Given the description of an element on the screen output the (x, y) to click on. 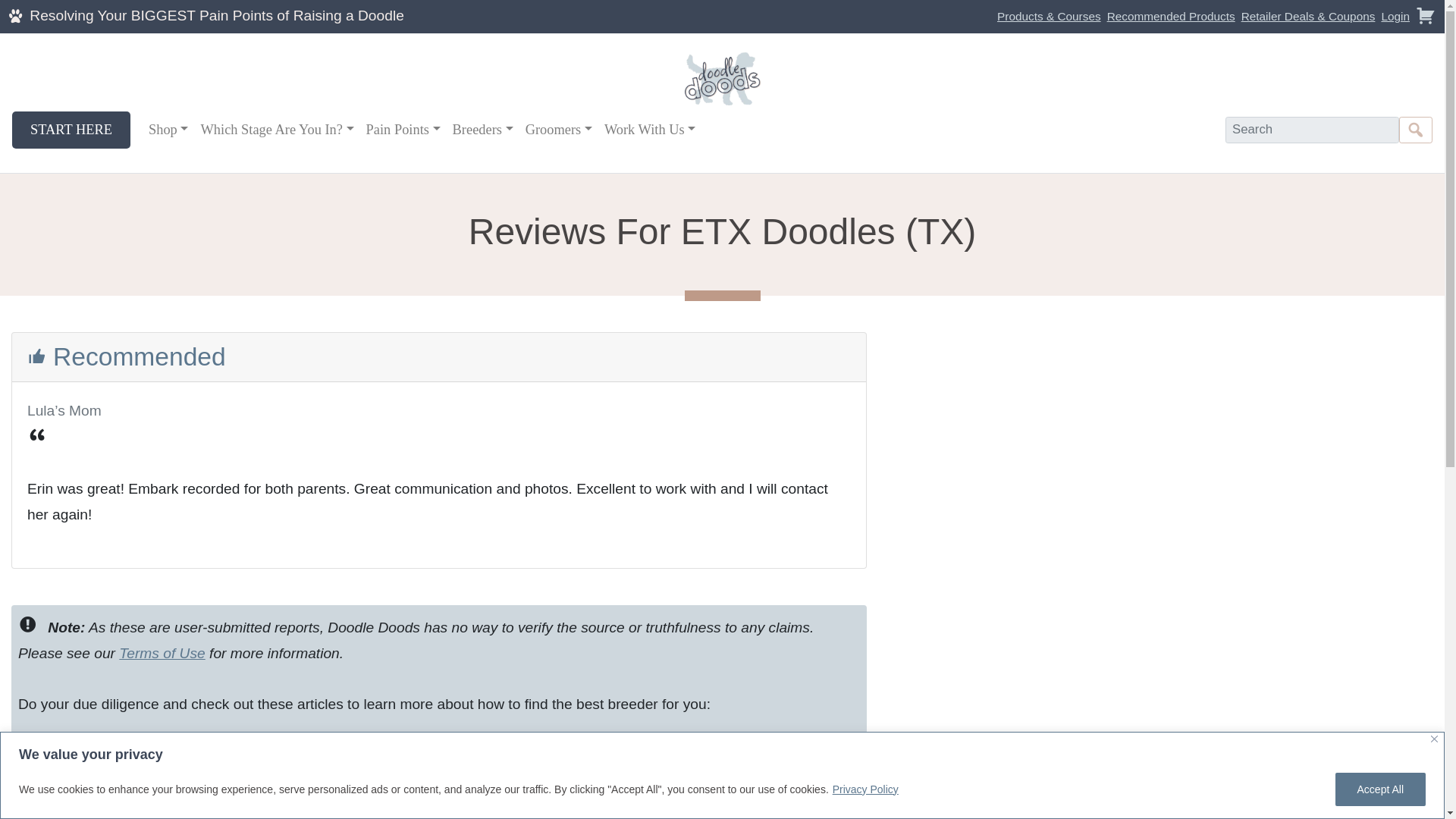
Pain Points (402, 129)
Which Stage Are You In? (276, 129)
Shop (168, 129)
Breeders (482, 129)
START HERE (70, 129)
Login (1394, 15)
Recommended Products (1170, 15)
Breeders (482, 129)
Doodle Doods (216, 15)
Pain Points (402, 129)
Privacy Policy (865, 789)
Resolving Your BIGGEST Pain Points of Raising a Doodle (216, 15)
Which Stage Are You In? (276, 129)
START HERE (70, 129)
Shop (168, 129)
